Given the description of an element on the screen output the (x, y) to click on. 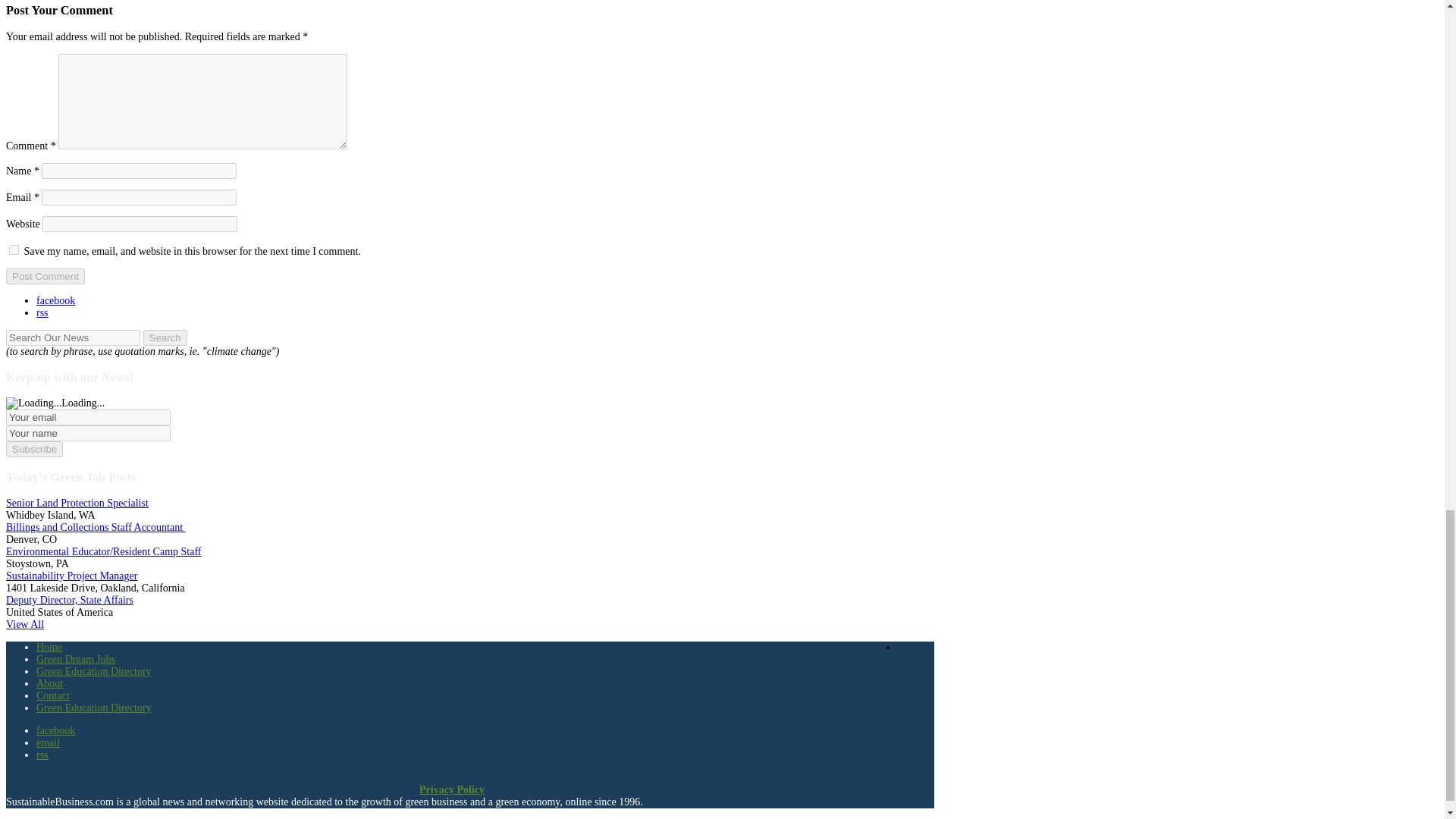
Subscribe (33, 449)
Post Comment (44, 276)
yes (13, 249)
Your email (87, 417)
Search for: (72, 337)
Loading... (33, 403)
Search (164, 337)
RSS (42, 754)
Your name (87, 433)
Search (164, 337)
email (47, 742)
Facebook (55, 730)
RSS (42, 312)
Facebook (55, 300)
